Given the description of an element on the screen output the (x, y) to click on. 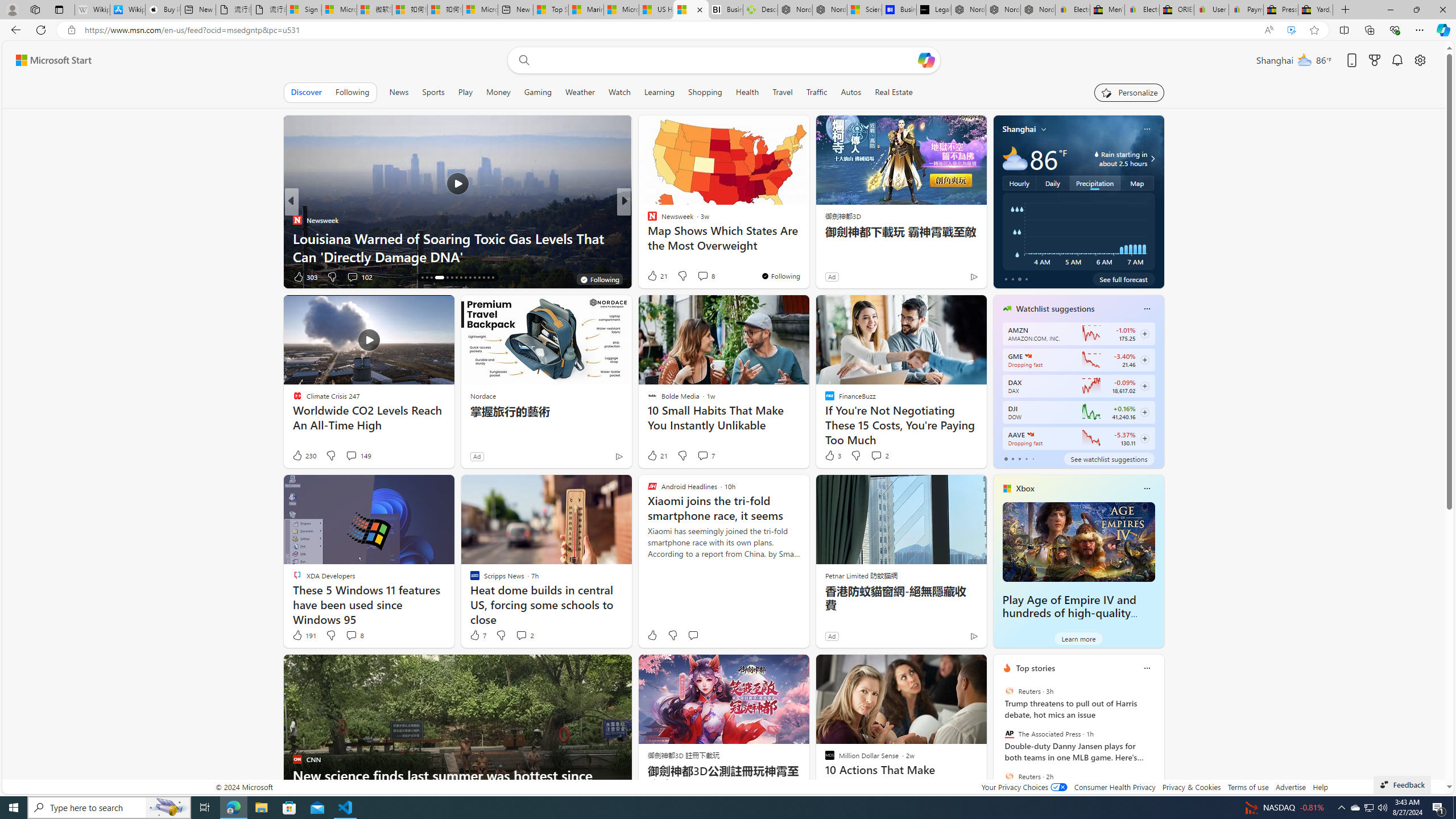
You're following MSNBC (949, 279)
View comments 8 Comment (350, 635)
Heat is deadly. Why does our culture push us to ignore it? (807, 247)
AutomationID: tab-30 (492, 277)
